Given the description of an element on the screen output the (x, y) to click on. 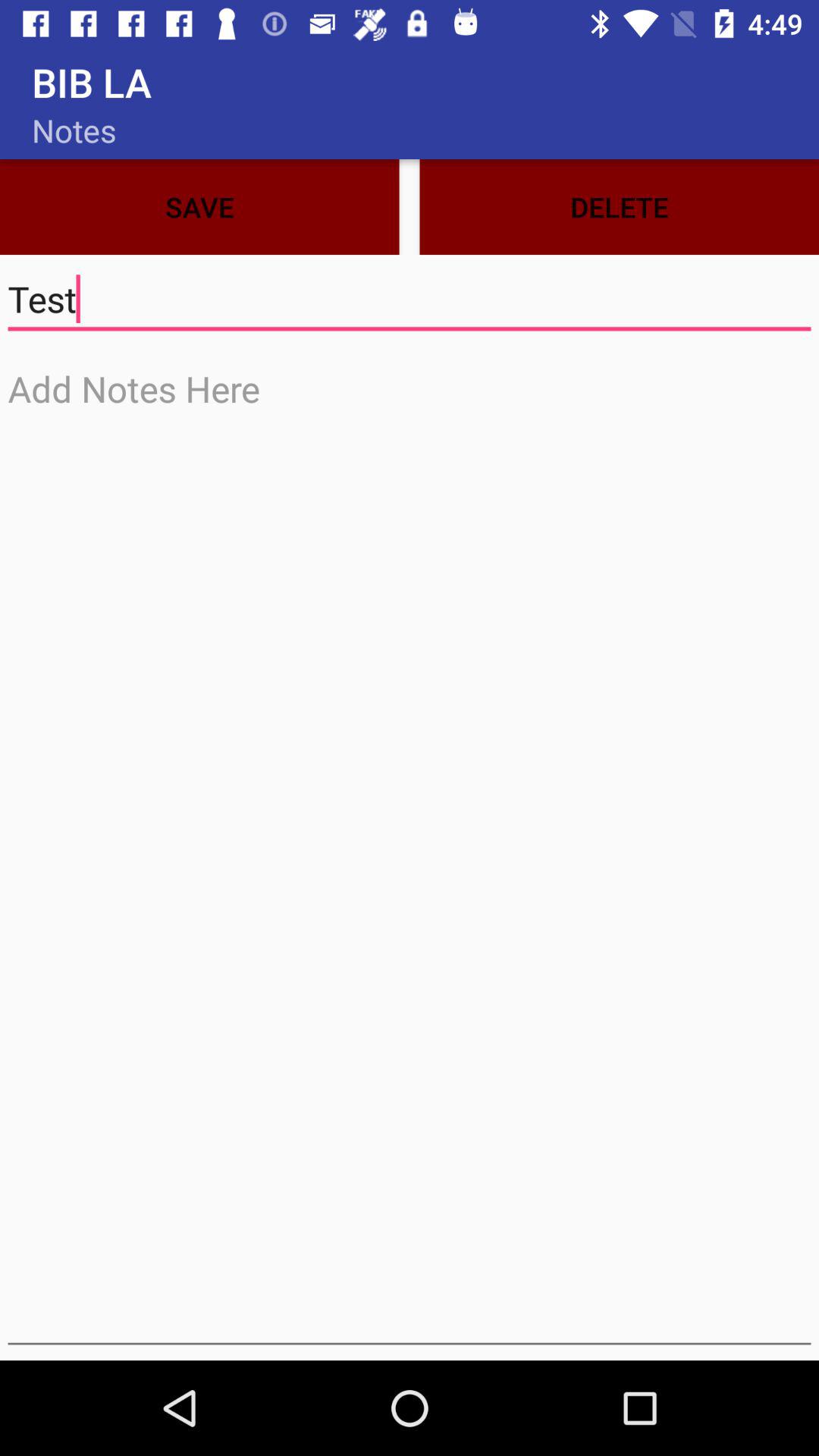
click the icon next to the delete item (199, 206)
